Given the description of an element on the screen output the (x, y) to click on. 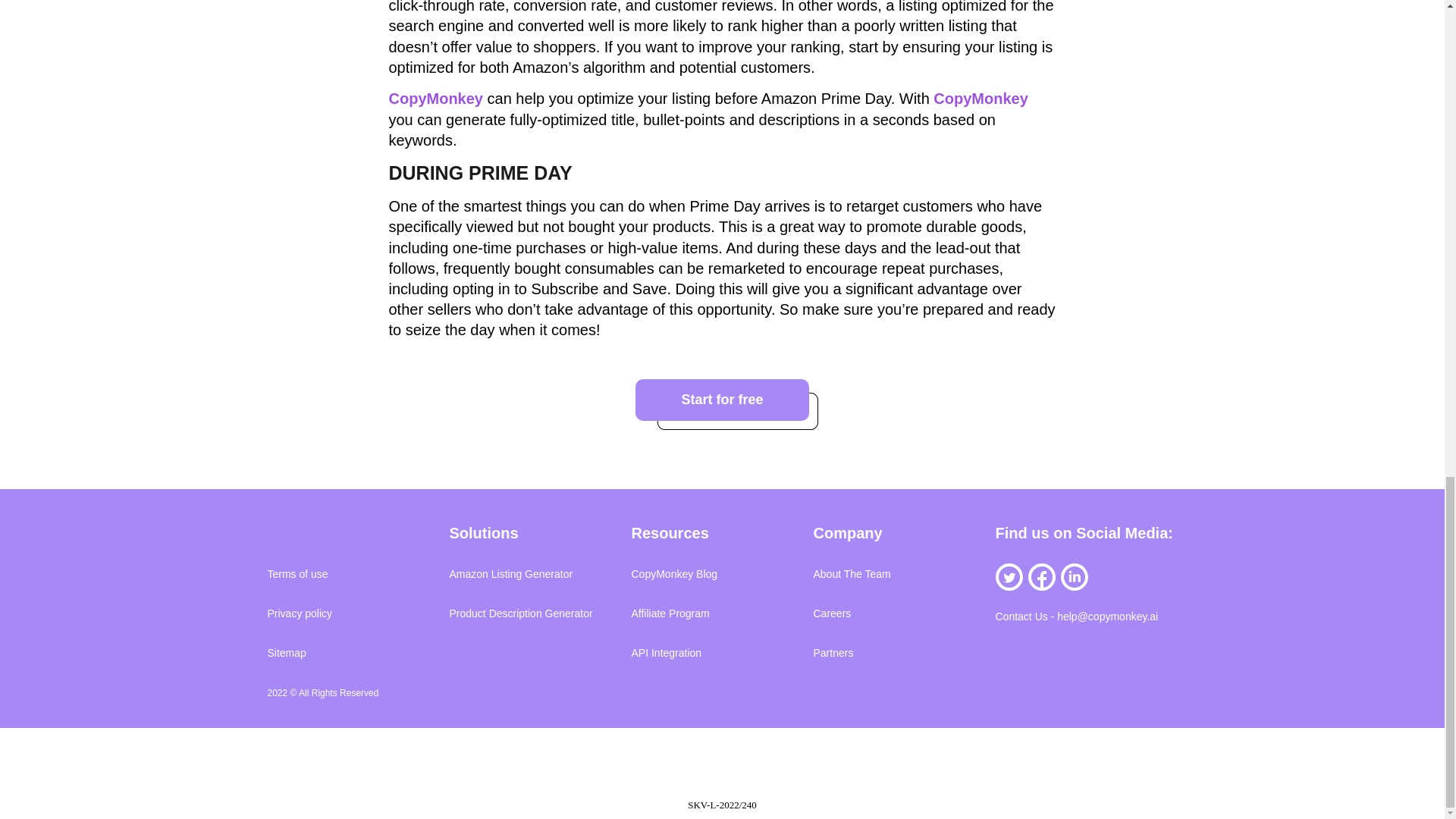
Affiliate Program (669, 613)
CopyMonkey (980, 98)
Partners (832, 653)
Amazon Listing Generator (510, 573)
Careers (831, 613)
API Integration (665, 653)
Terms of use (296, 573)
Start for free (721, 399)
Privacy policy (298, 613)
Sitemap (285, 653)
CopyMonkey (434, 98)
Product Description Generator (520, 613)
CopyMonkey Blog (673, 573)
About The Team (850, 573)
